Given the description of an element on the screen output the (x, y) to click on. 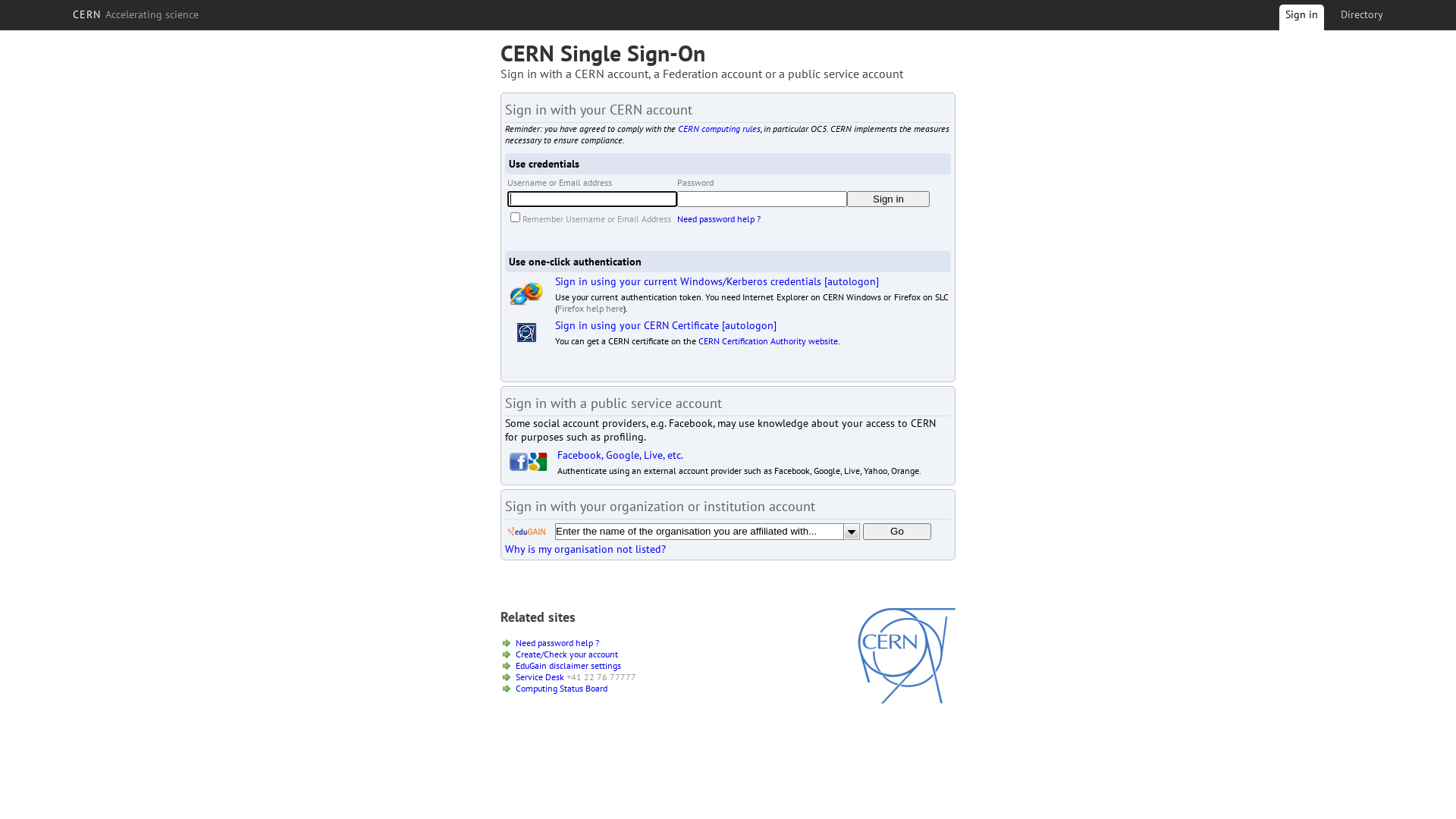
[show debug information] Element type: text (549, 565)
Create/Check your account Element type: text (566, 653)
Need password help ? Element type: text (557, 642)
Computing Status Board Element type: text (561, 687)
Sign in using your CERN Certificate Element type: text (636, 325)
Enter your Username or Email Address Element type: hover (592, 199)
Sign in Element type: text (1301, 19)
CERN Single Sign-On Element type: text (602, 52)
[autologon] Element type: text (748, 325)
Sign in using your current Windows/Kerberos credentials Element type: text (688, 281)
[autologon] Element type: text (851, 281)
Need password help ? Element type: text (718, 218)
Sign in Element type: text (888, 199)
EduGain disclaimer settings Element type: text (568, 665)
CERN Certification Authority website Element type: text (767, 340)
Service Desk Element type: text (539, 676)
Directory Element type: text (1361, 14)
Go Element type: text (896, 531)
CERN computing rules Element type: text (718, 128)
CERN Accelerating science Element type: text (135, 14)
Why is my organisation not listed? Element type: text (585, 548)
Facebook, Google, Live, etc. Element type: text (620, 454)
Firefox help here Element type: text (590, 307)
CERN Element type: hover (906, 699)
